Given the description of an element on the screen output the (x, y) to click on. 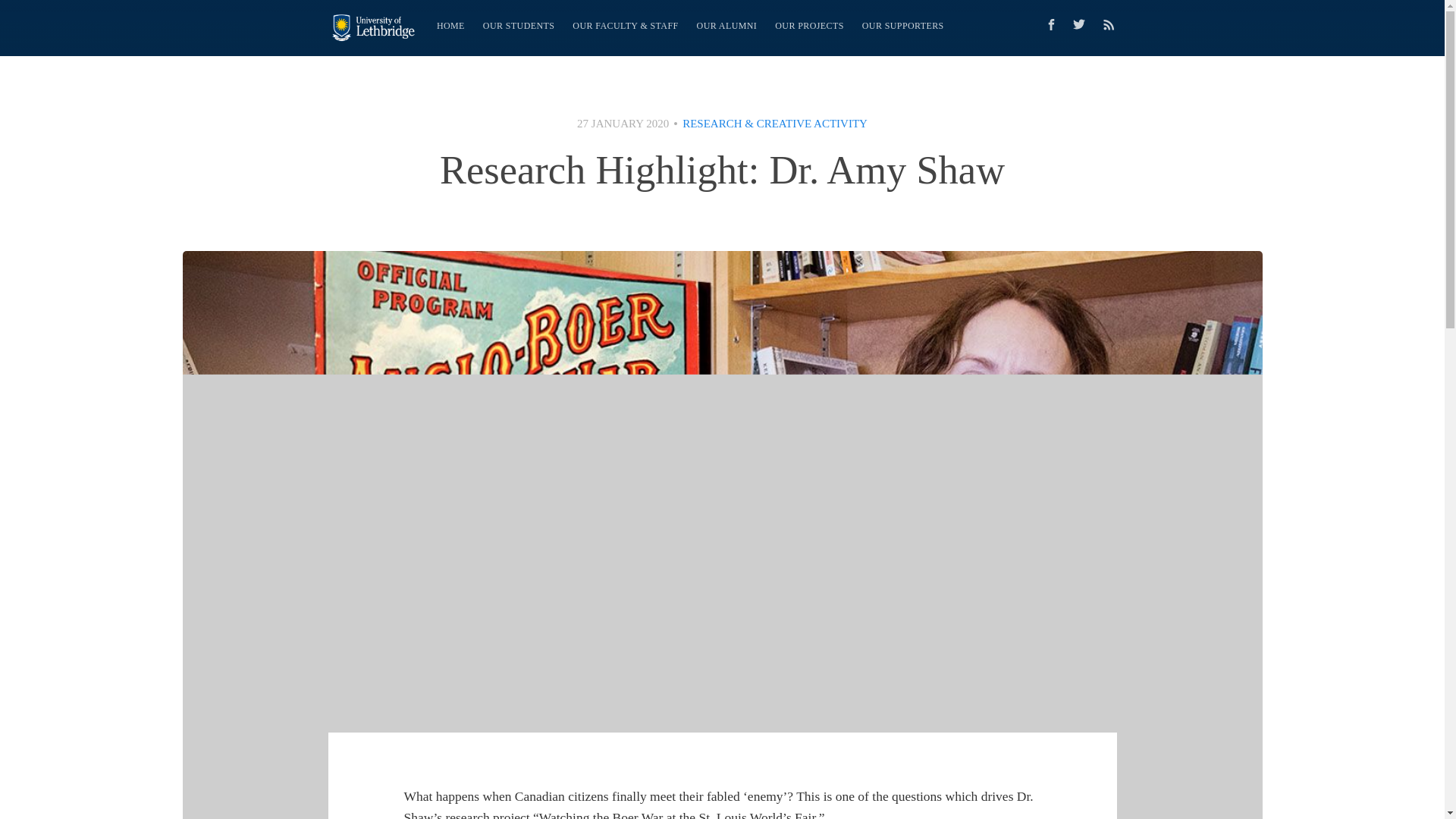
OUR STUDENTS (518, 25)
Twitter (1082, 23)
OUR PROJECTS (809, 25)
Facebook (1050, 23)
OUR SUPPORTERS (903, 25)
HOME (451, 25)
OUR ALUMNI (727, 25)
